Given the description of an element on the screen output the (x, y) to click on. 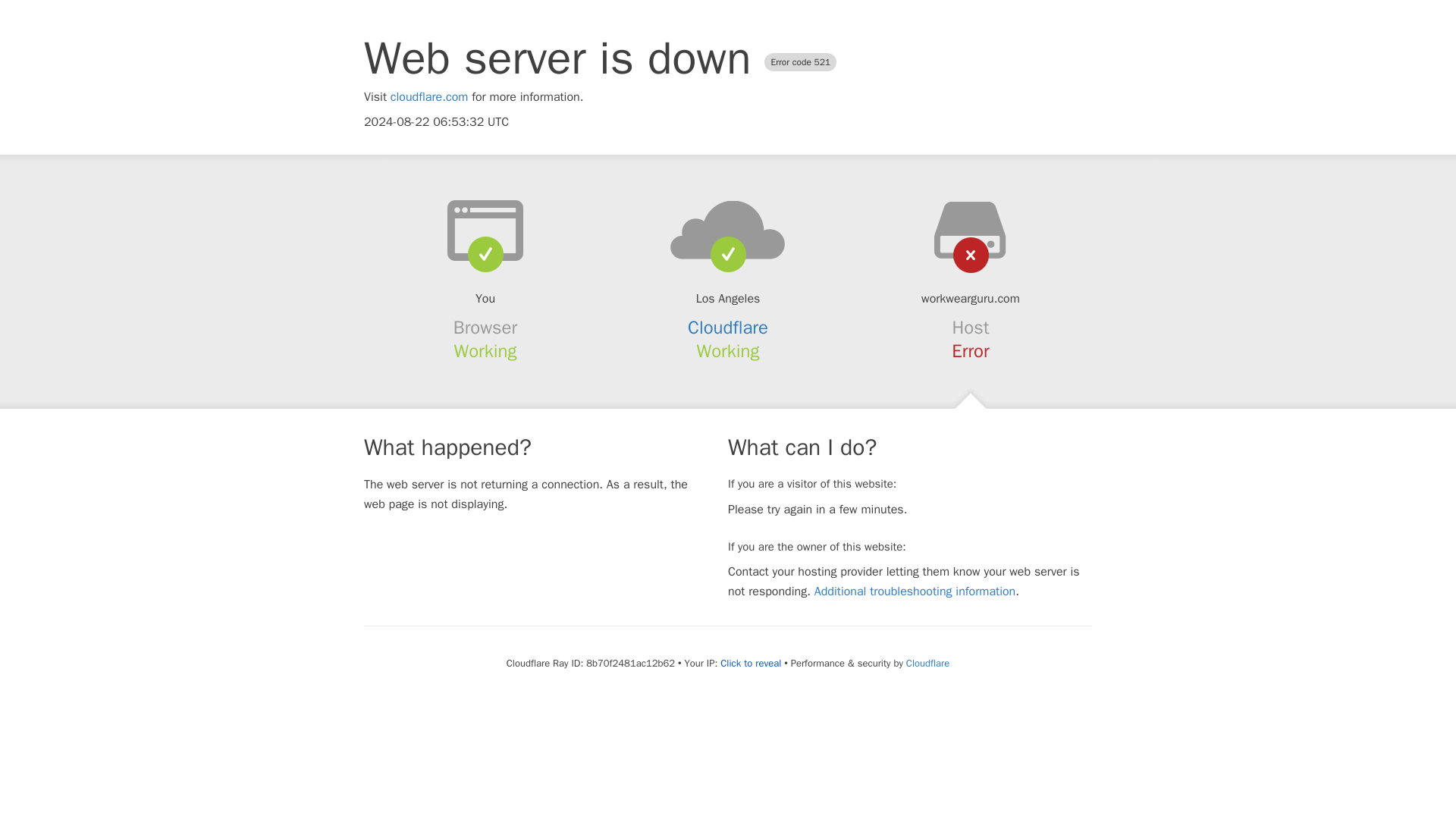
Additional troubleshooting information (913, 590)
Click to reveal (750, 663)
Cloudflare (927, 662)
Cloudflare (727, 327)
cloudflare.com (429, 96)
